Given the description of an element on the screen output the (x, y) to click on. 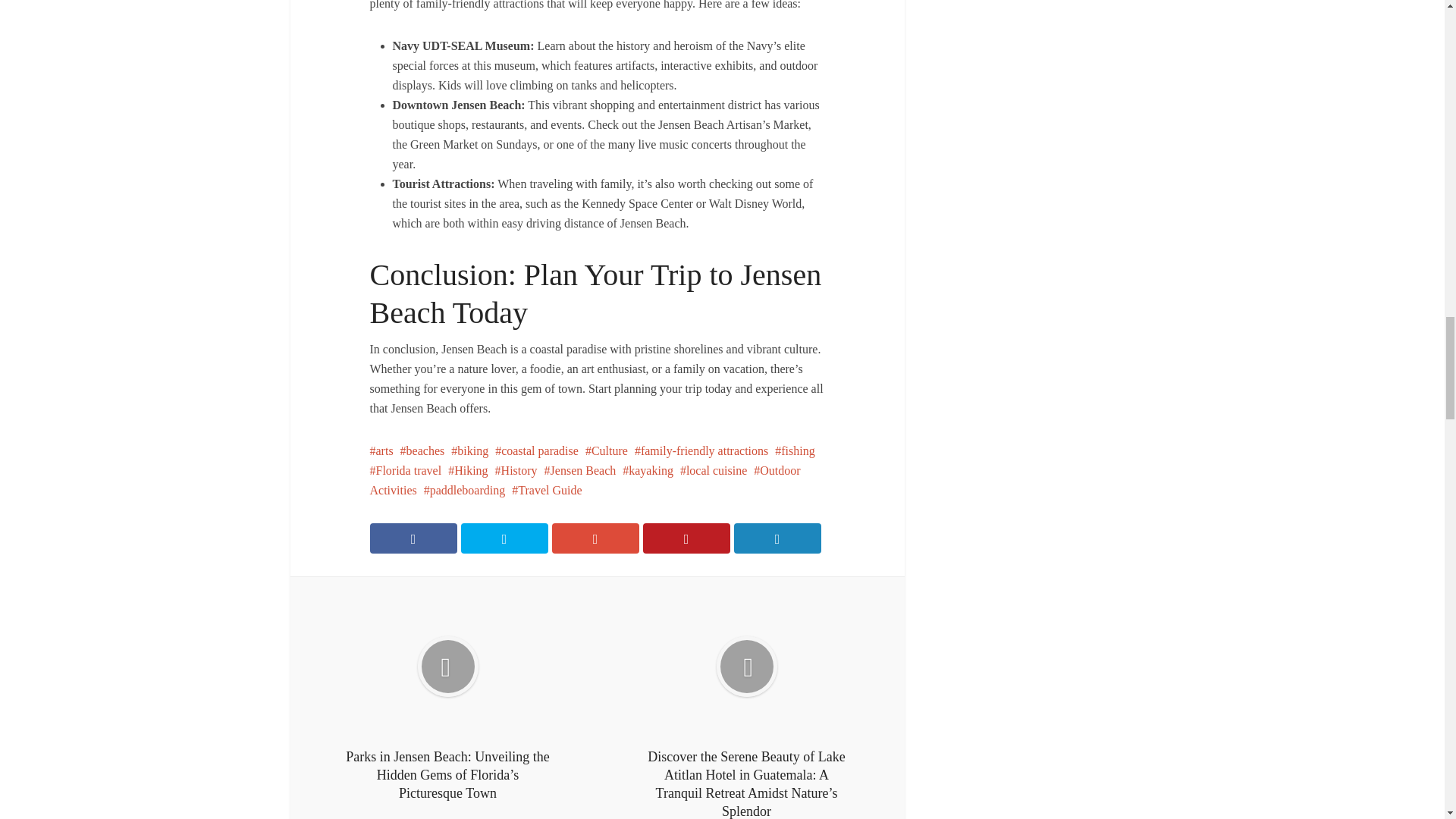
biking (469, 450)
Outdoor Activities (584, 480)
Jensen Beach (579, 470)
History (516, 470)
local cuisine (712, 470)
Hiking (467, 470)
arts (381, 450)
family-friendly attractions (701, 450)
Culture (606, 450)
kayaking (647, 470)
fishing (793, 450)
beaches (422, 450)
coastal paradise (536, 450)
Florida travel (405, 470)
